Given the description of an element on the screen output the (x, y) to click on. 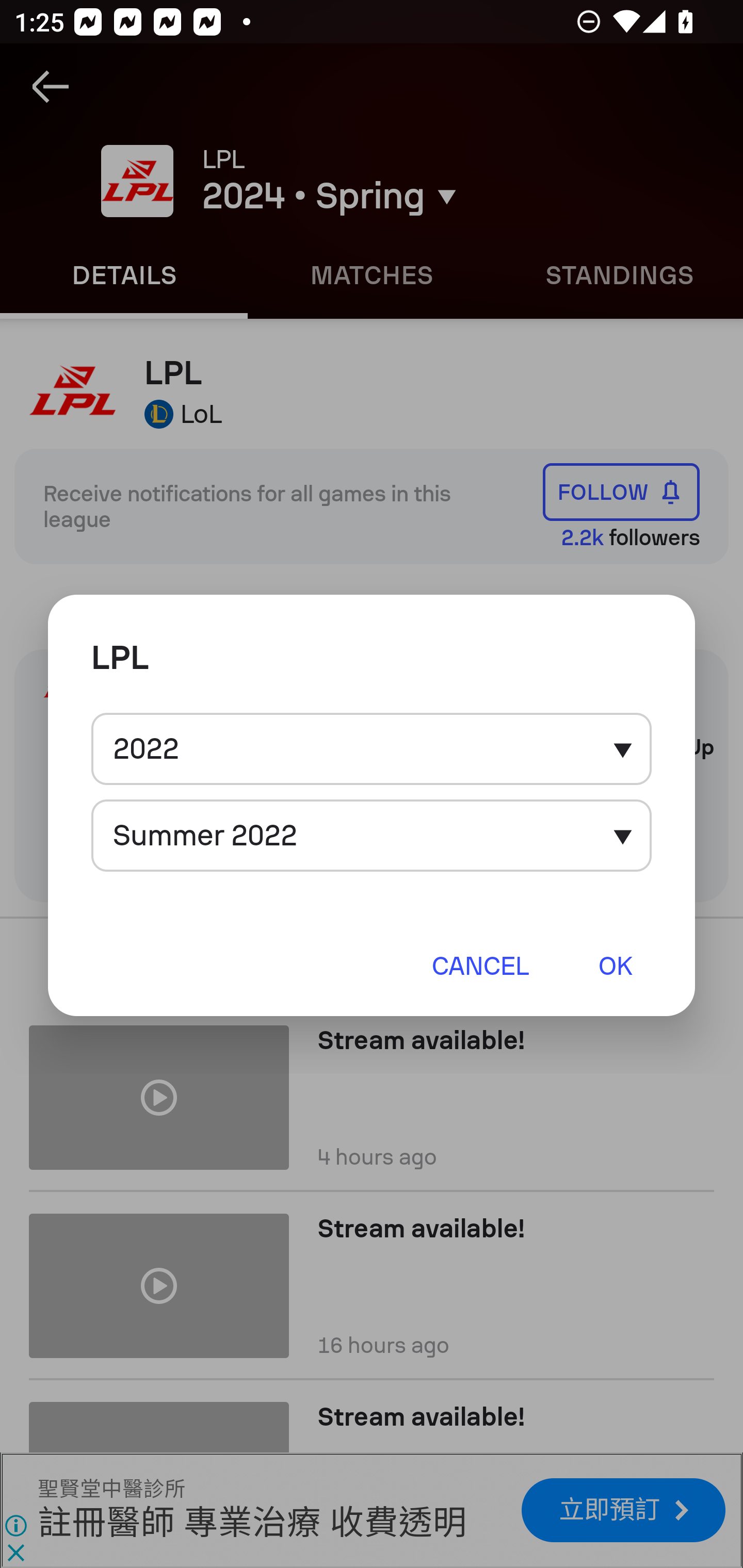
2022 (371, 749)
Summer 2022 (371, 835)
CANCEL (479, 964)
OK (615, 964)
